Given the description of an element on the screen output the (x, y) to click on. 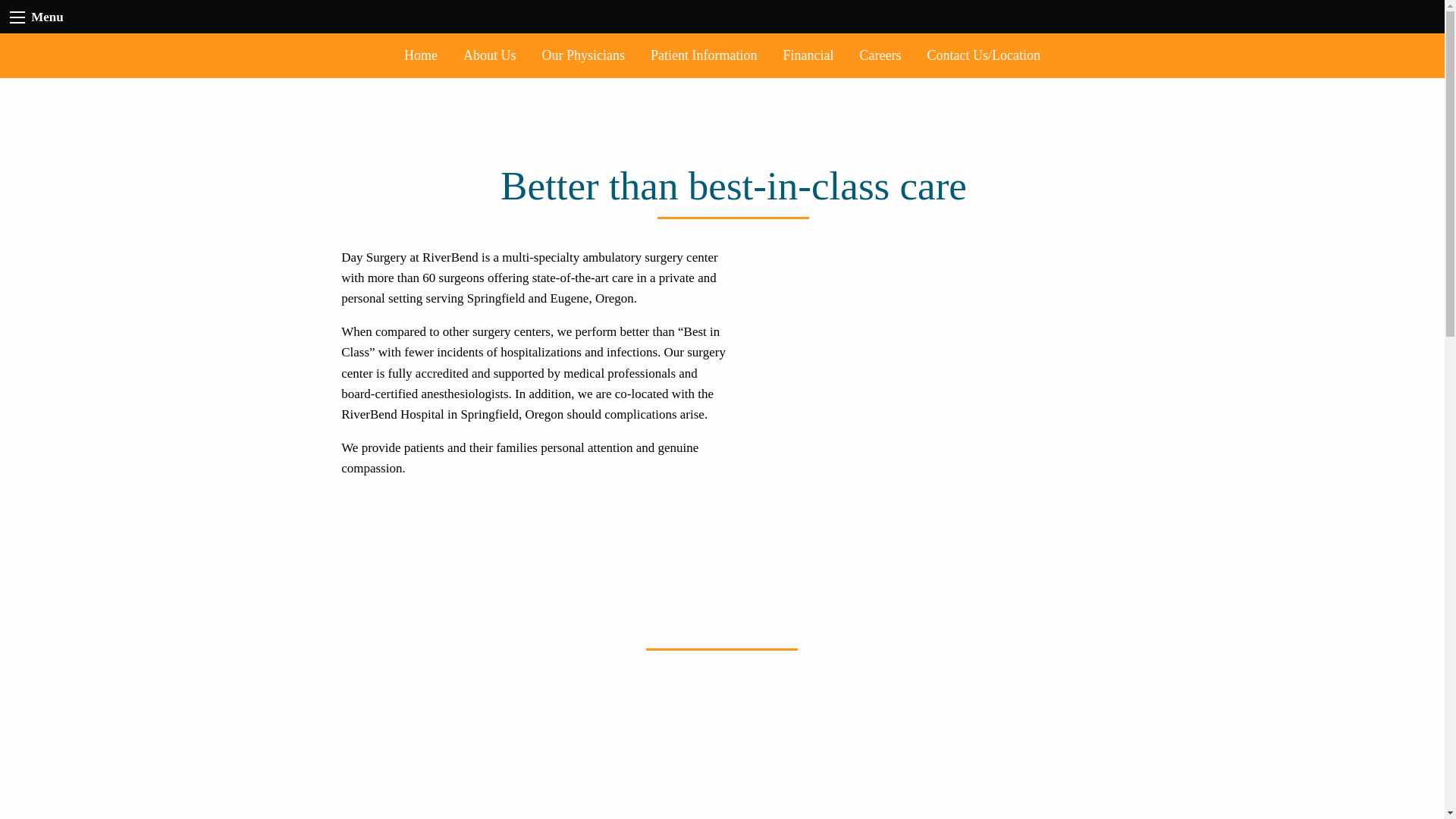
Financial (808, 55)
Careers (880, 55)
Patient Information (703, 55)
About Us (489, 55)
Our Physicians (584, 55)
Home (420, 55)
